Given the description of an element on the screen output the (x, y) to click on. 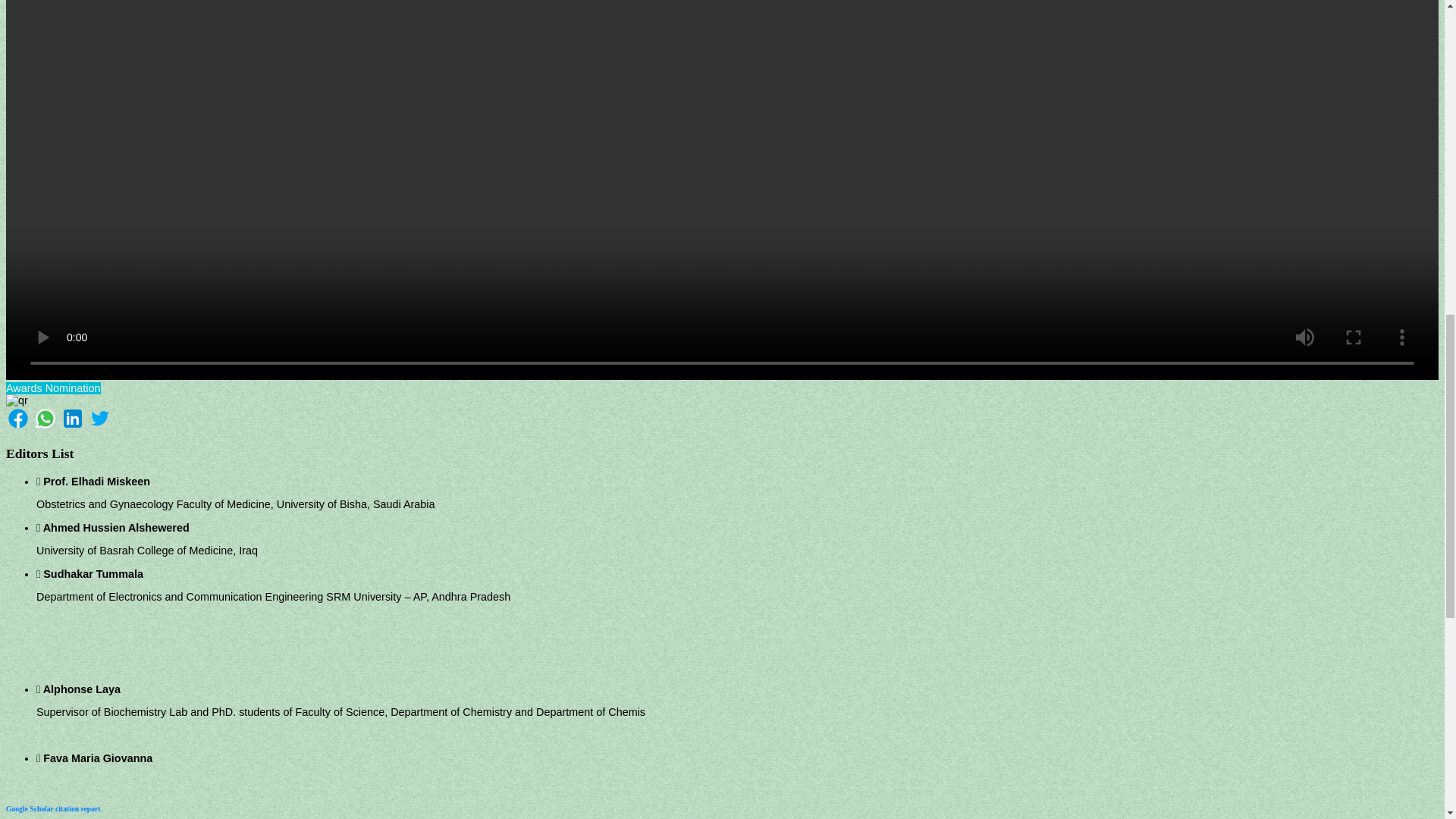
Google Scholar citation report (52, 808)
